Given the description of an element on the screen output the (x, y) to click on. 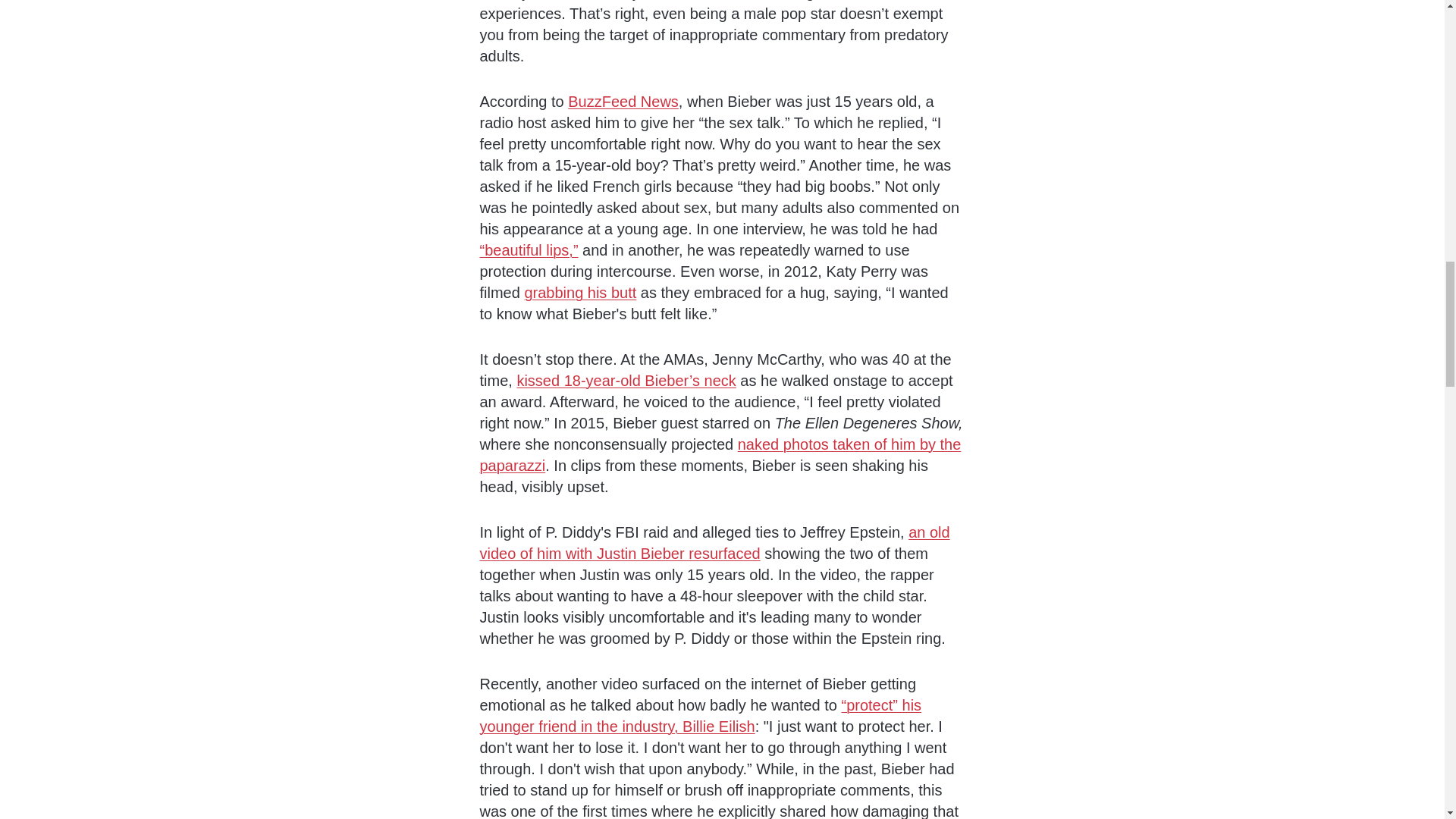
BuzzFeed News (622, 101)
an old video of him with Justin Bieber resurfaced (714, 542)
grabbing his butt (580, 292)
naked photos taken of him by the paparazzi (719, 454)
